Given the description of an element on the screen output the (x, y) to click on. 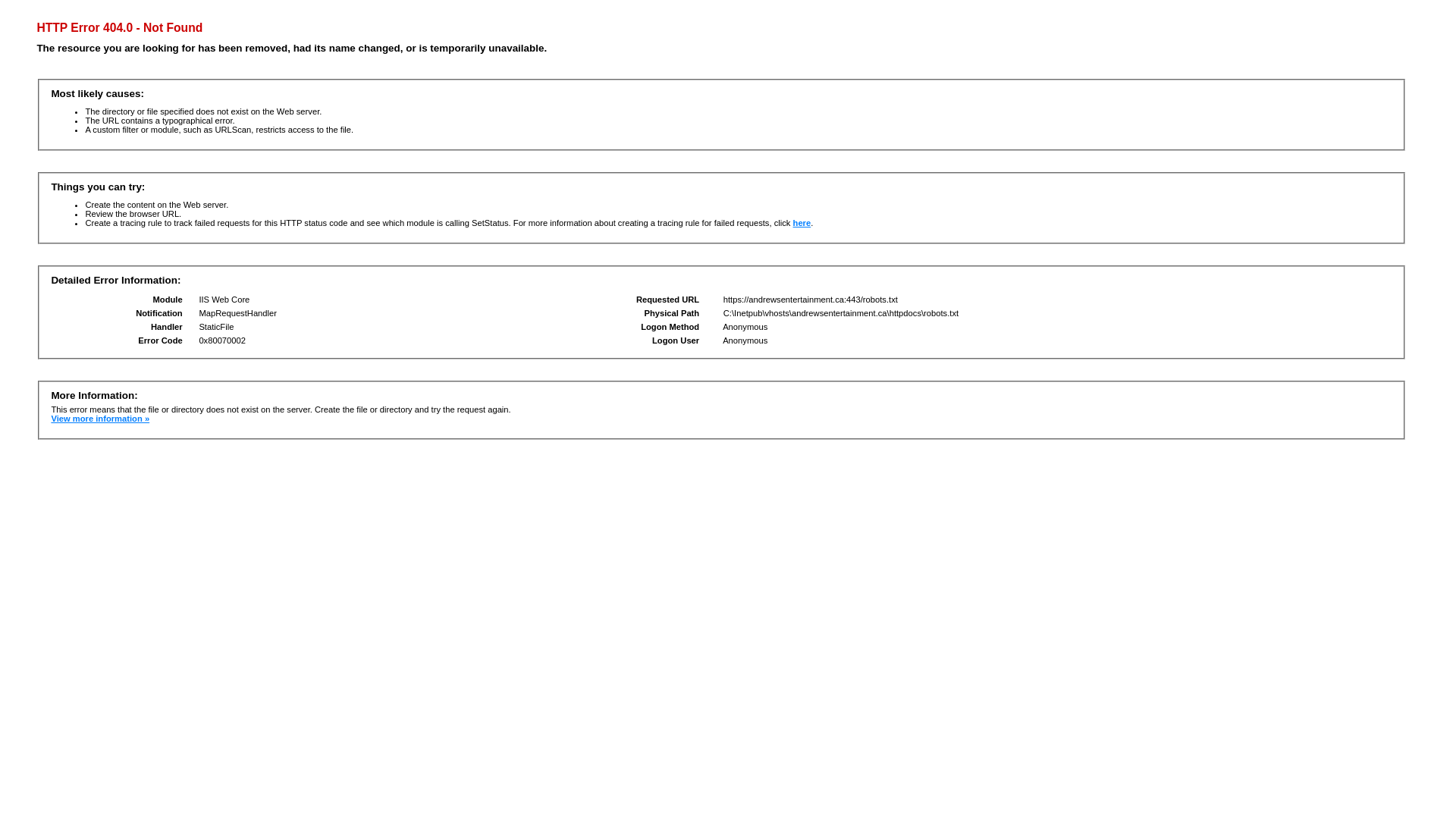
here Element type: text (802, 222)
